Given the description of an element on the screen output the (x, y) to click on. 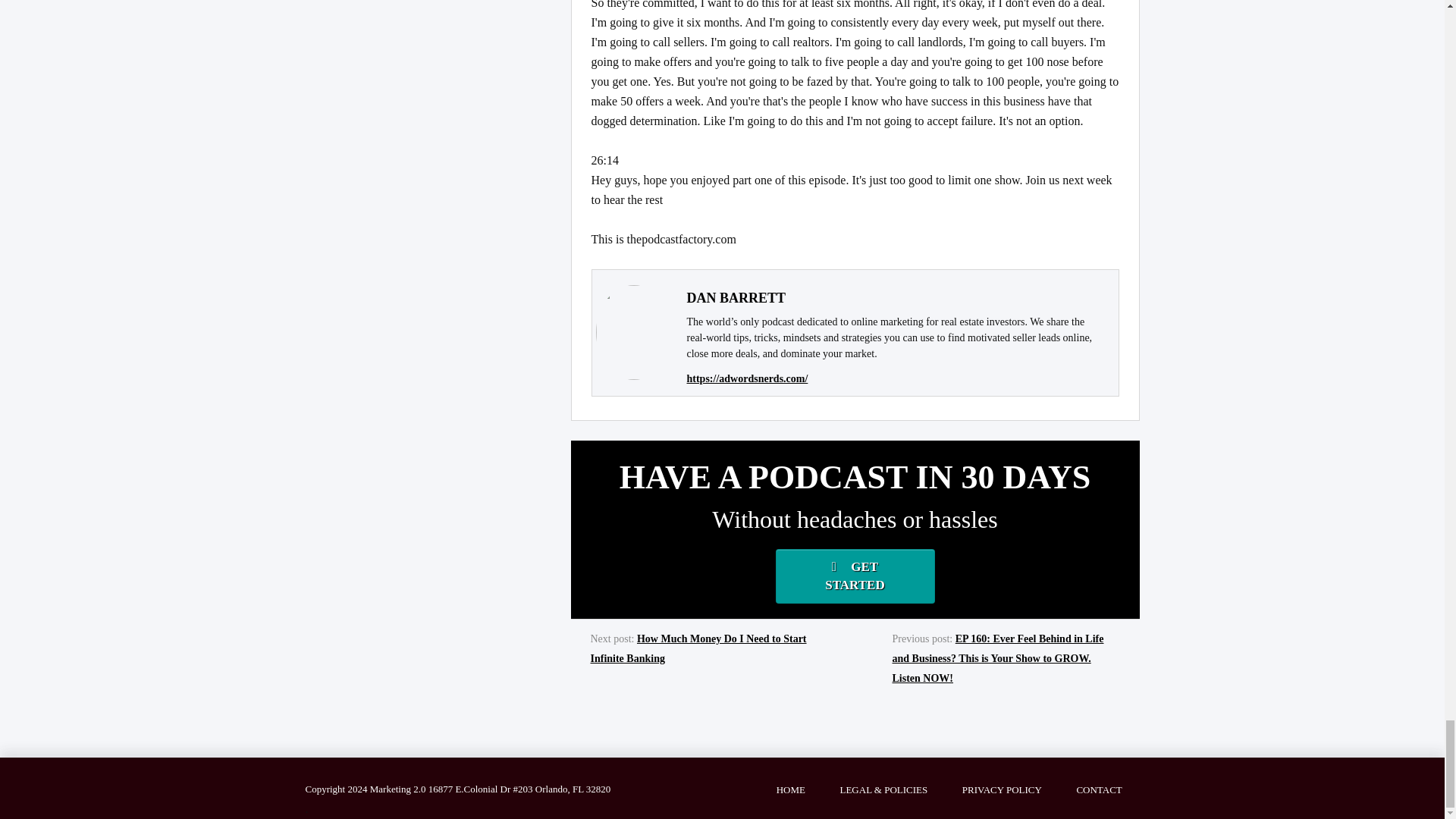
How Much Money Do I Need to Start Infinite Banking (697, 648)
DAN BARRETT (736, 297)
GET STARTED (854, 575)
HOME (790, 787)
CONTACT (1099, 787)
PRIVACY POLICY (1001, 787)
